Given the description of an element on the screen output the (x, y) to click on. 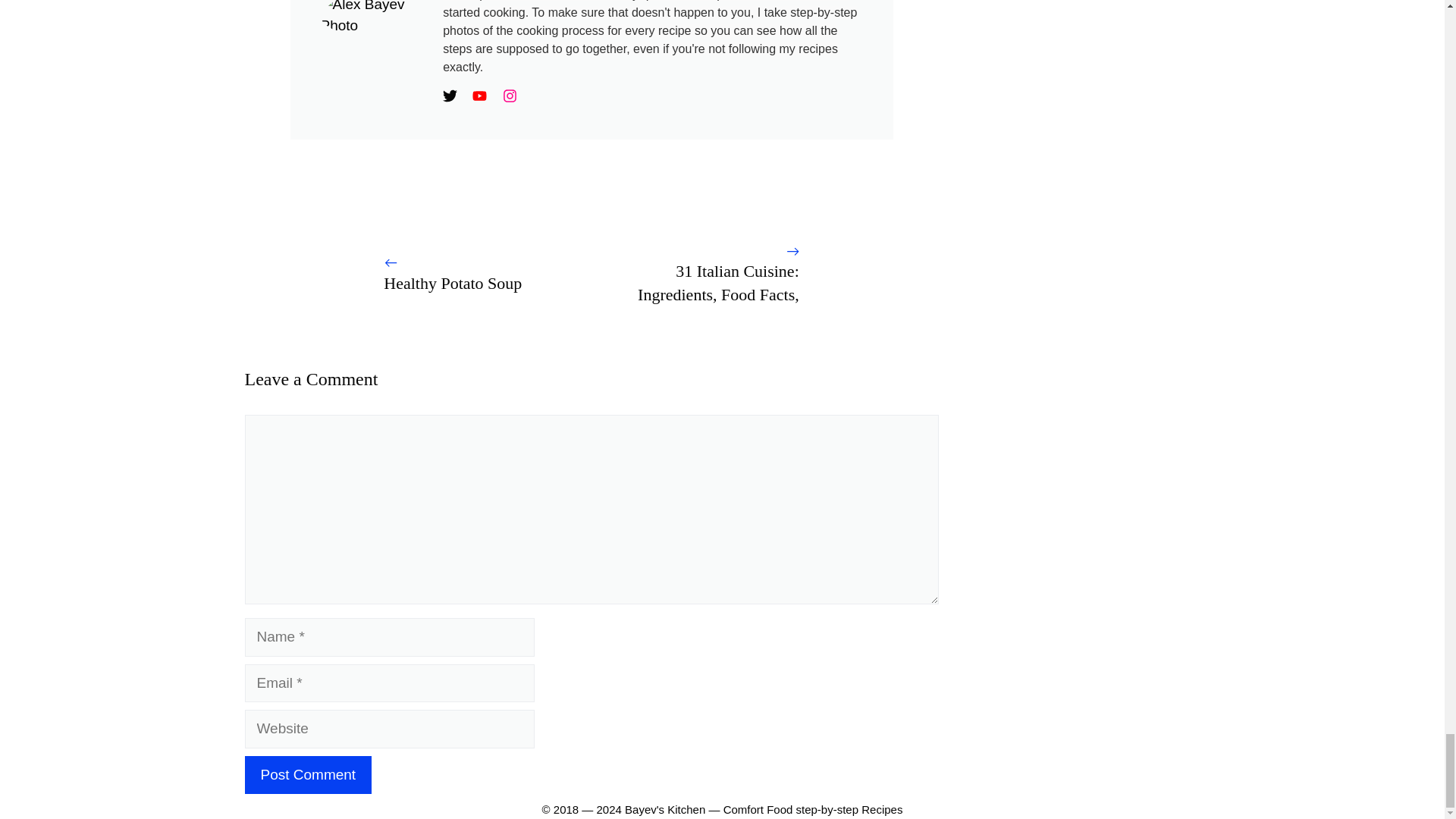
Alex Bayev Photo (374, 18)
Post Comment (307, 774)
